Given the description of an element on the screen output the (x, y) to click on. 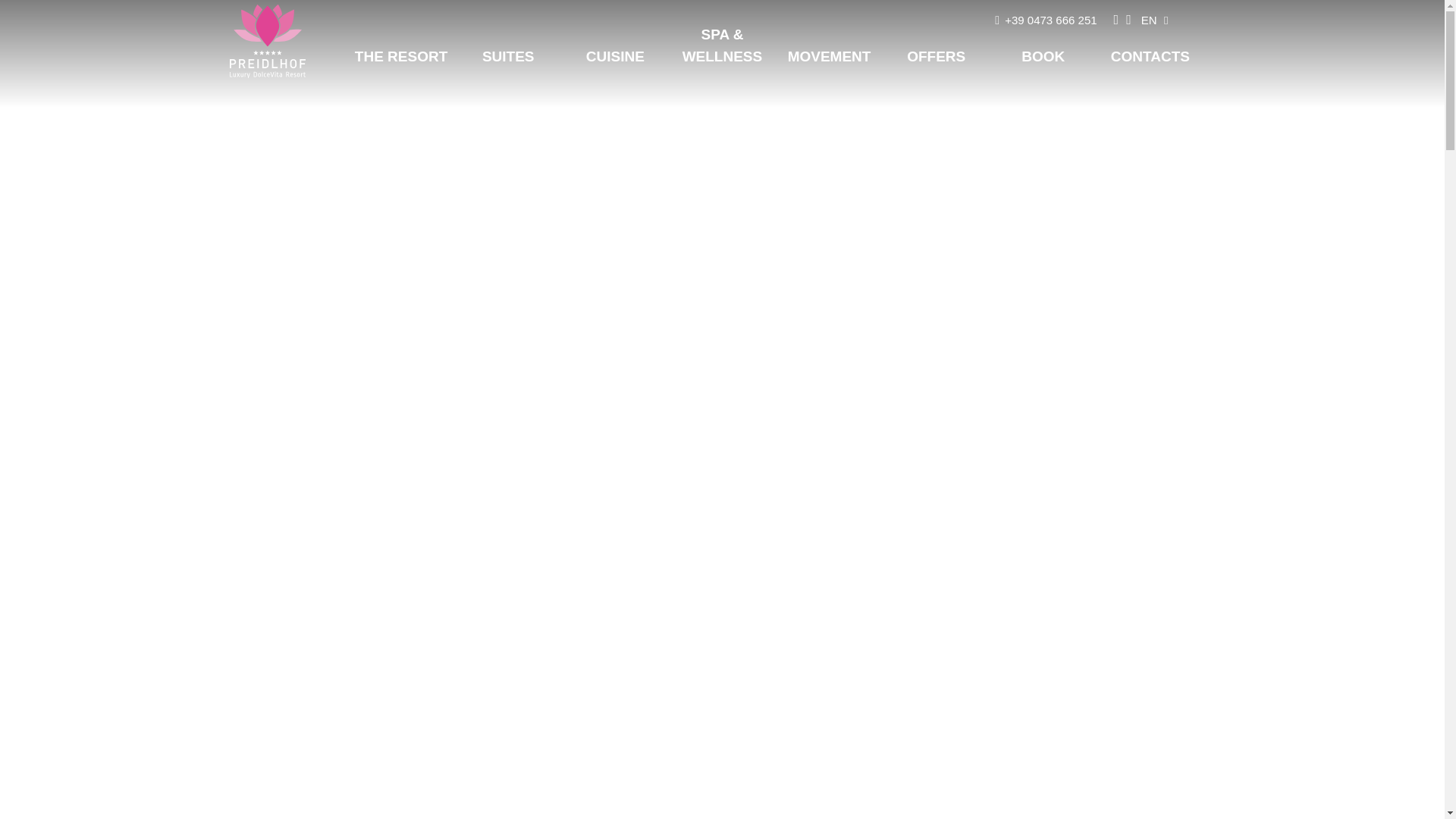
Suites (508, 58)
SUITES (508, 58)
THE RESORT (400, 58)
Cuisine (615, 58)
THE RESORT (400, 58)
CUISINE (615, 58)
